Given the description of an element on the screen output the (x, y) to click on. 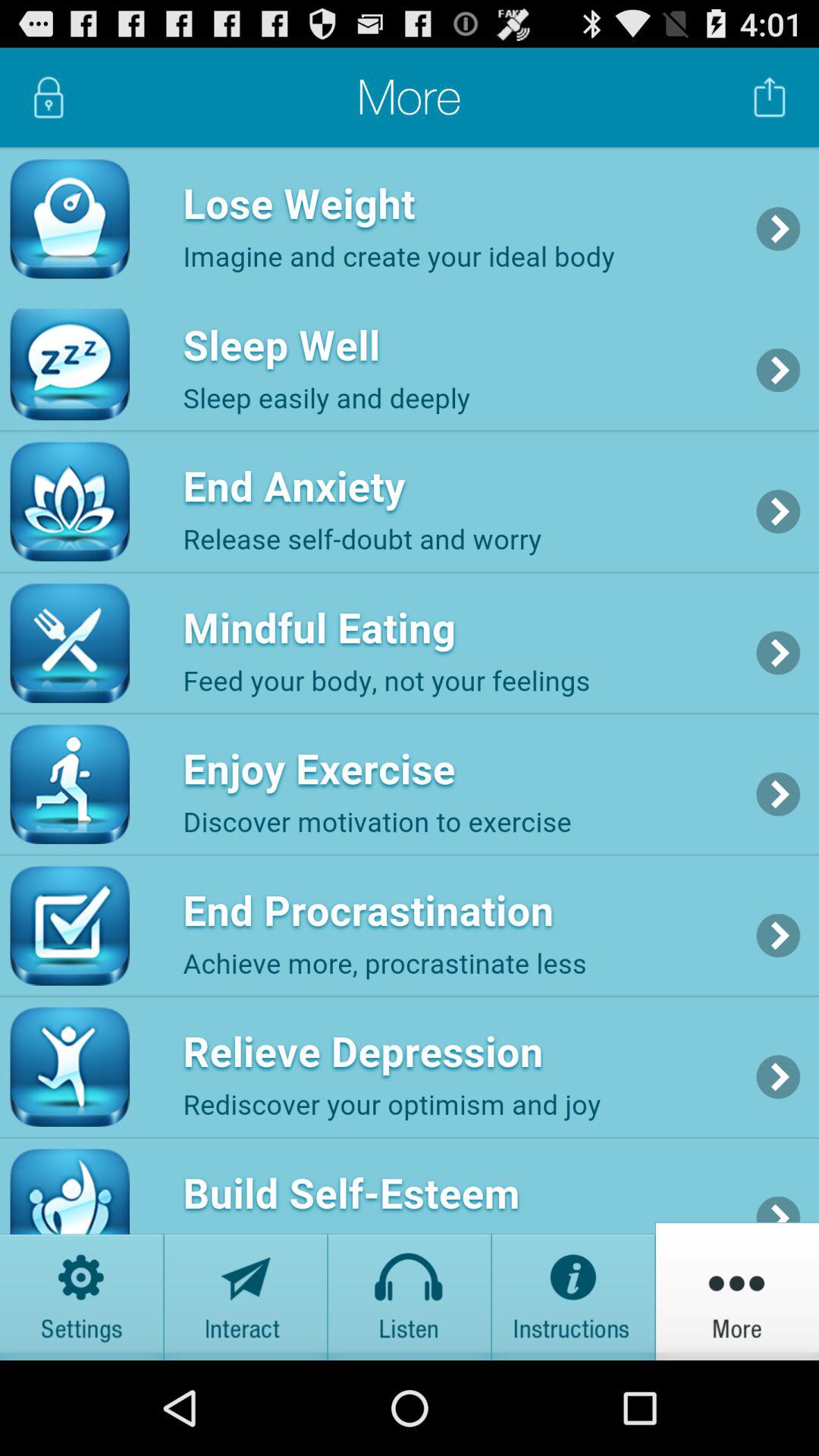
get the instructions (573, 1290)
